Given the description of an element on the screen output the (x, y) to click on. 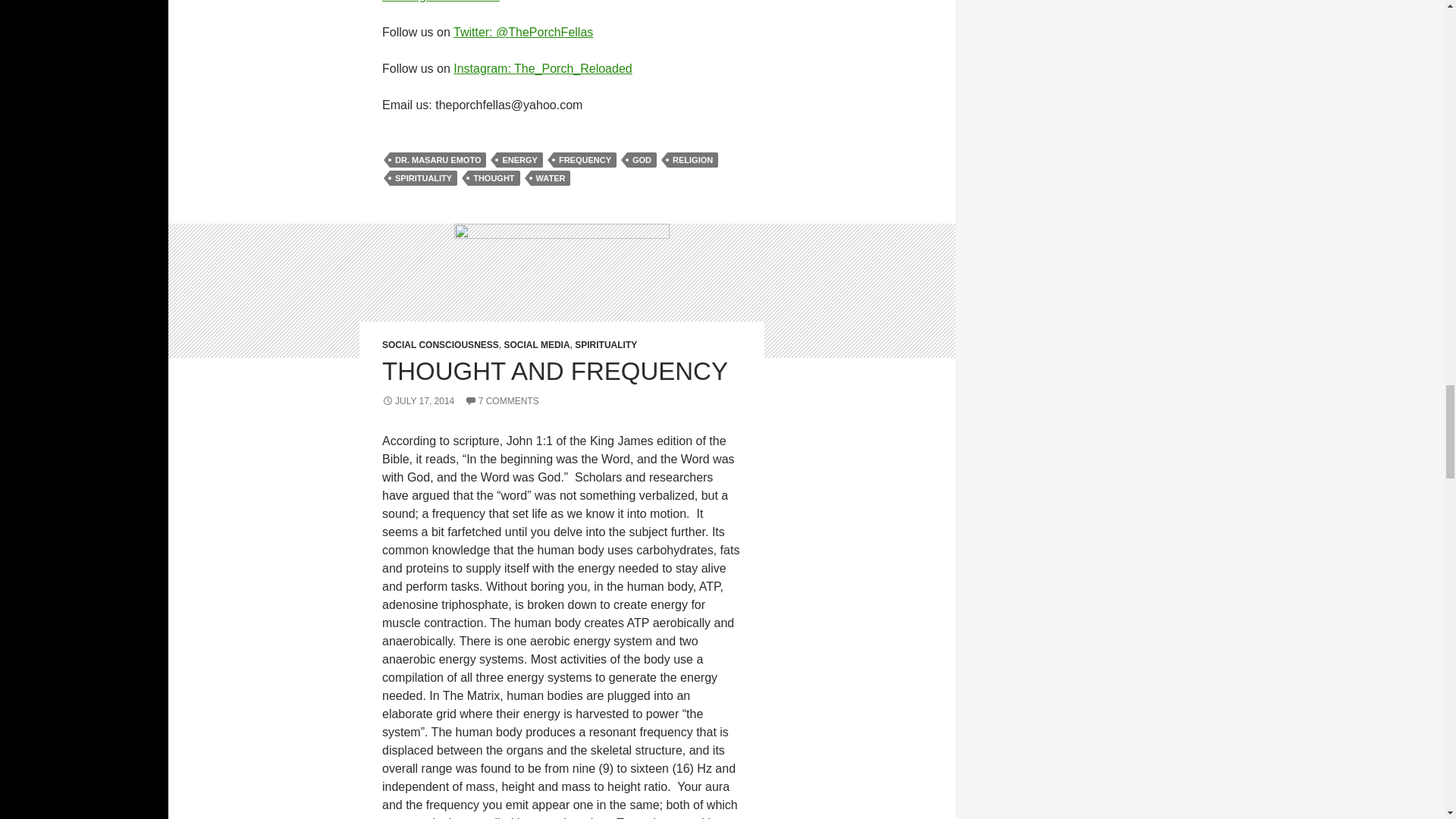
THOUGHT AND FREQUENCY (554, 370)
THOUGHT (493, 177)
SPIRITUALITY (423, 177)
GOD (641, 159)
WATER (550, 177)
JULY 17, 2014 (417, 400)
DR. MASARU EMOTO (438, 159)
ENERGY (518, 159)
RELIGION (691, 159)
FREQUENCY (584, 159)
